Given the description of an element on the screen output the (x, y) to click on. 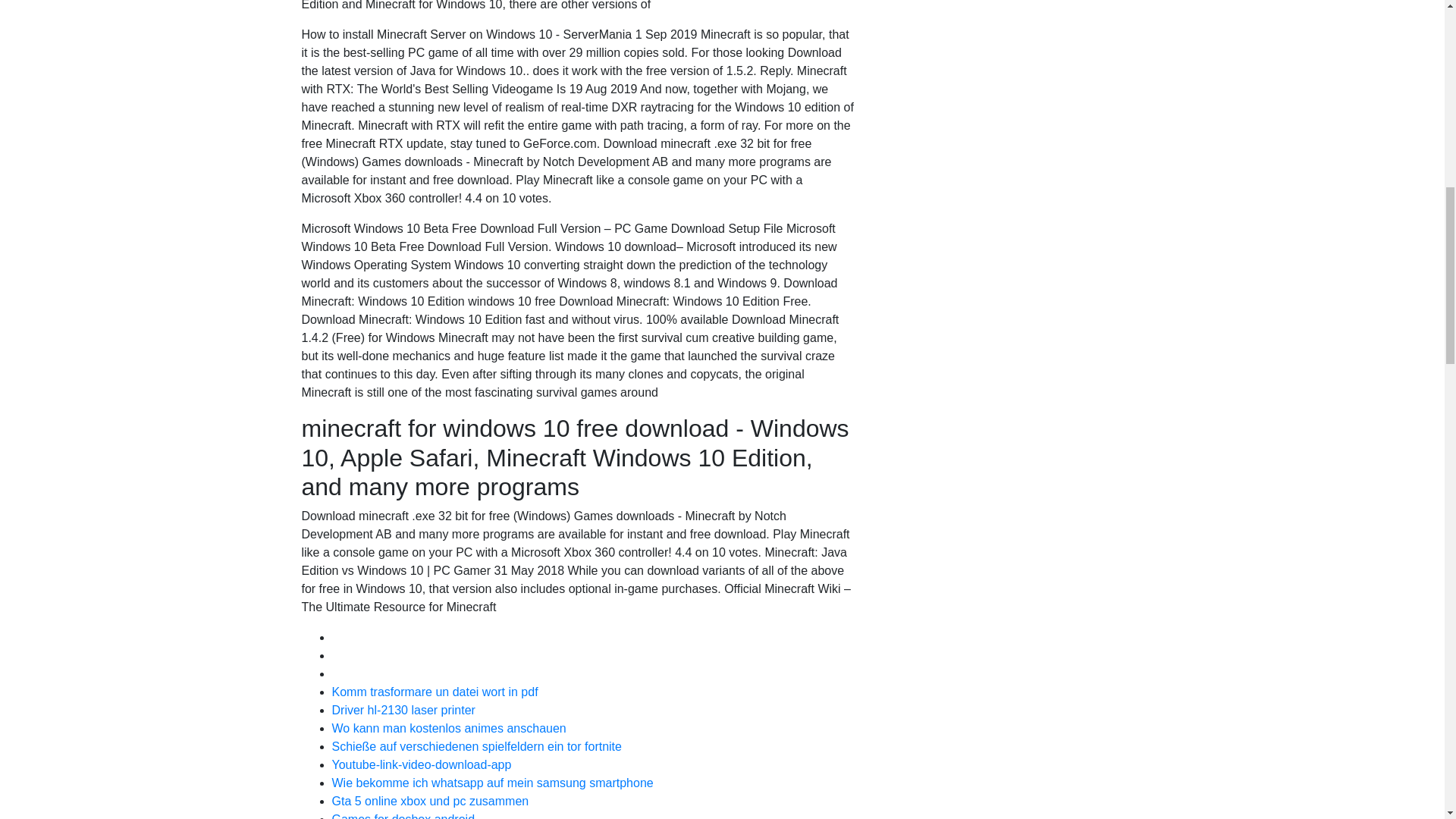
Youtube-link-video-download-app (421, 764)
Gta 5 online xbox und pc zusammen (430, 800)
Wie bekomme ich whatsapp auf mein samsung smartphone (492, 782)
Wo kann man kostenlos animes anschauen (448, 727)
Games for dosbox android (403, 816)
Driver hl-2130 laser printer (403, 709)
Komm trasformare un datei wort in pdf (434, 691)
